Given the description of an element on the screen output the (x, y) to click on. 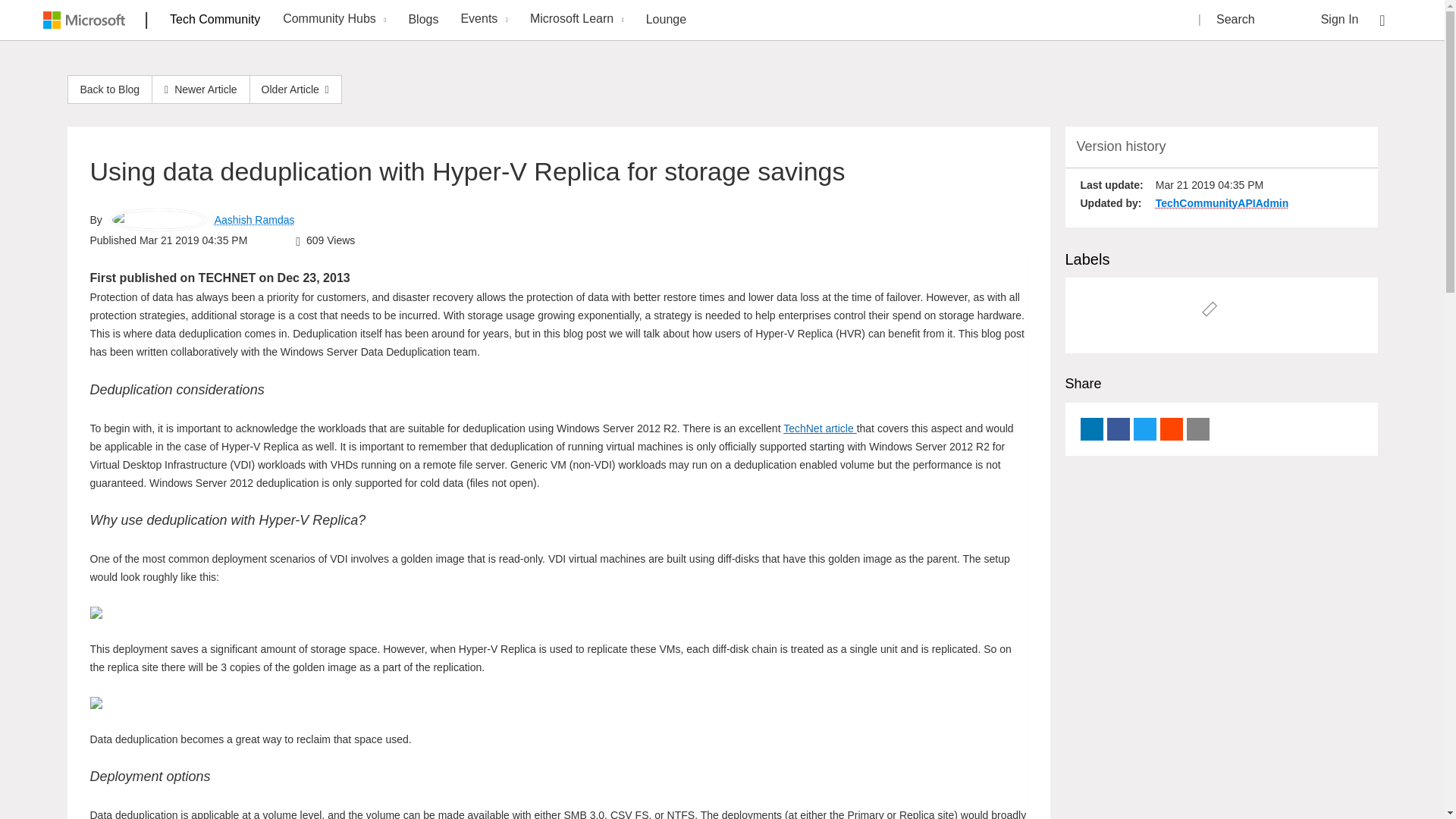
Tech Community (215, 18)
Community Hubs (332, 19)
